Given the description of an element on the screen output the (x, y) to click on. 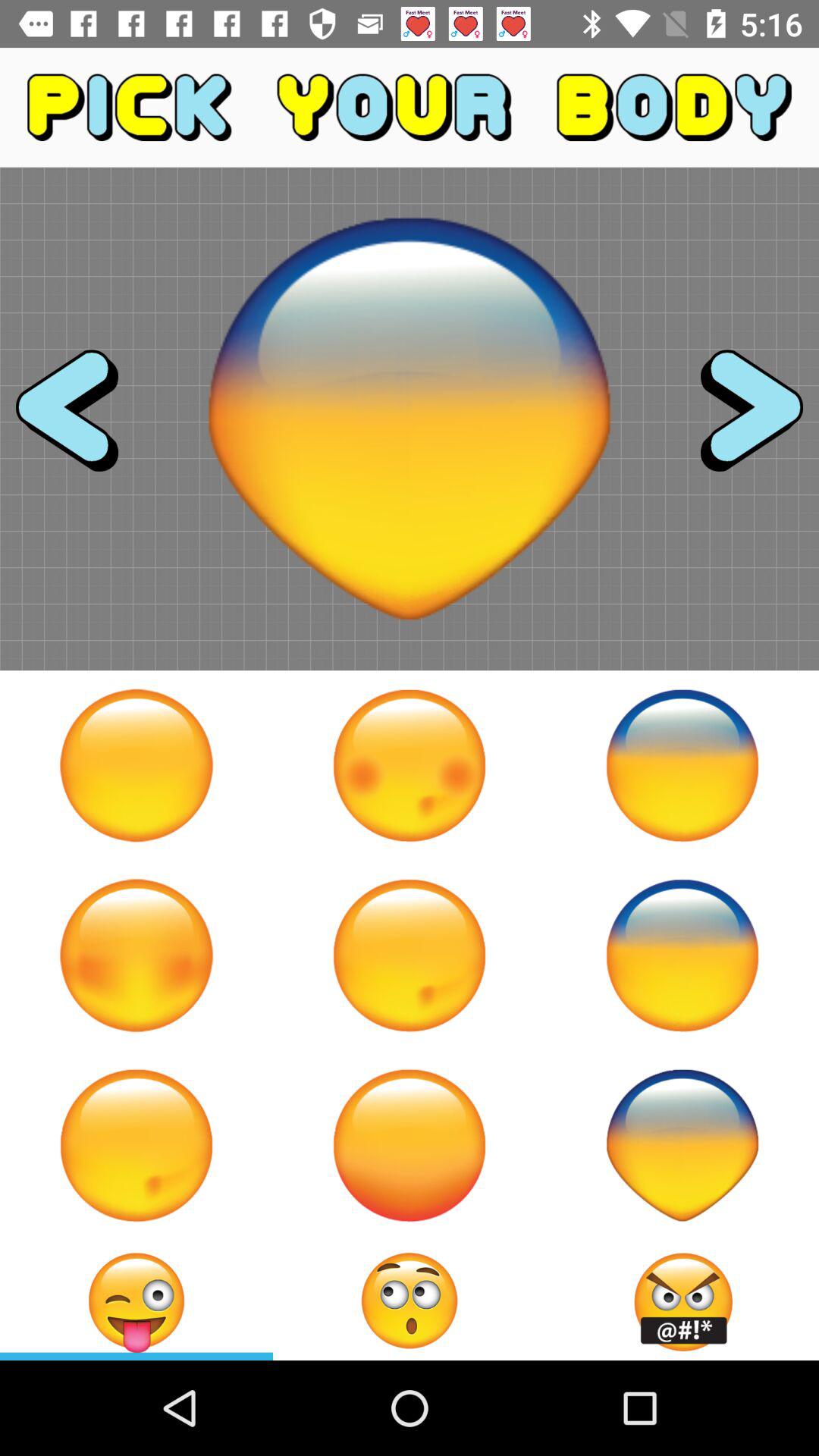
scroll to the left (81, 418)
